Given the description of an element on the screen output the (x, y) to click on. 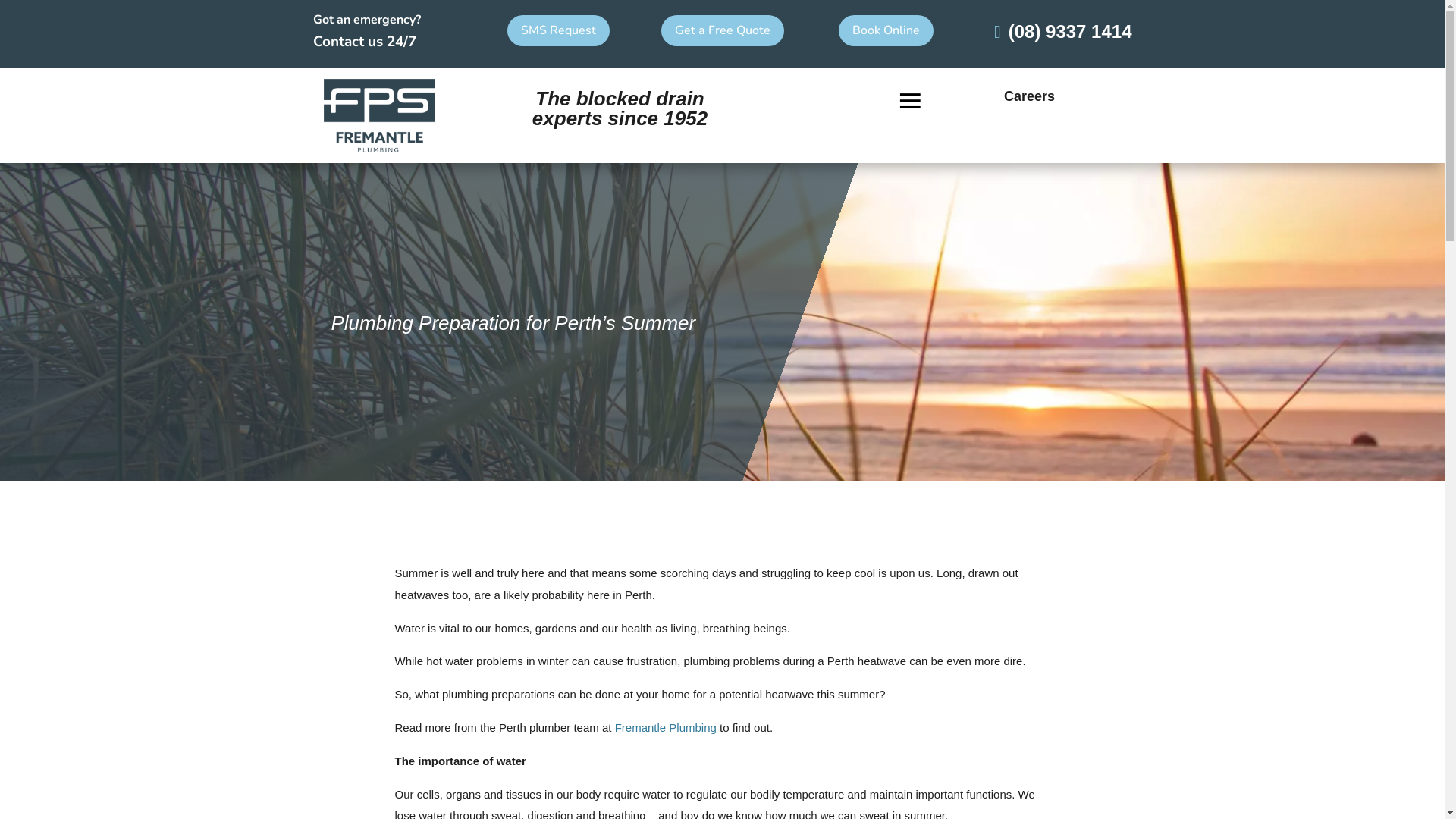
colour-logo Element type: hover (378, 115)
(08) 9337 1414 Element type: text (1063, 32)
Fremantle Plumbing Element type: text (665, 727)
SMS Request Element type: text (558, 30)
Book Online Element type: text (885, 30)
Get a Free Quote Element type: text (722, 30)
Careers Element type: text (1029, 95)
